Given the description of an element on the screen output the (x, y) to click on. 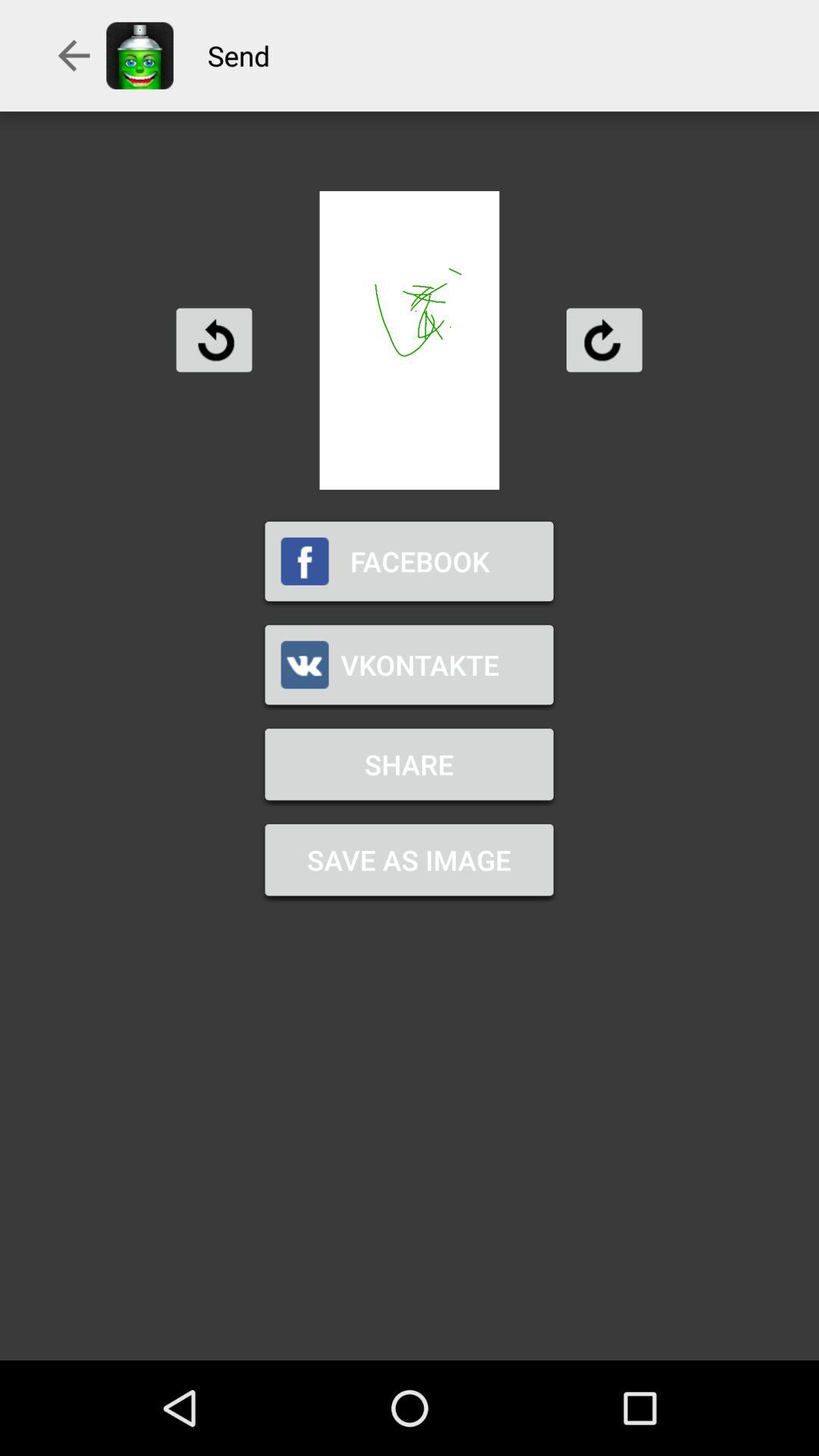
rotate left (213, 339)
